Given the description of an element on the screen output the (x, y) to click on. 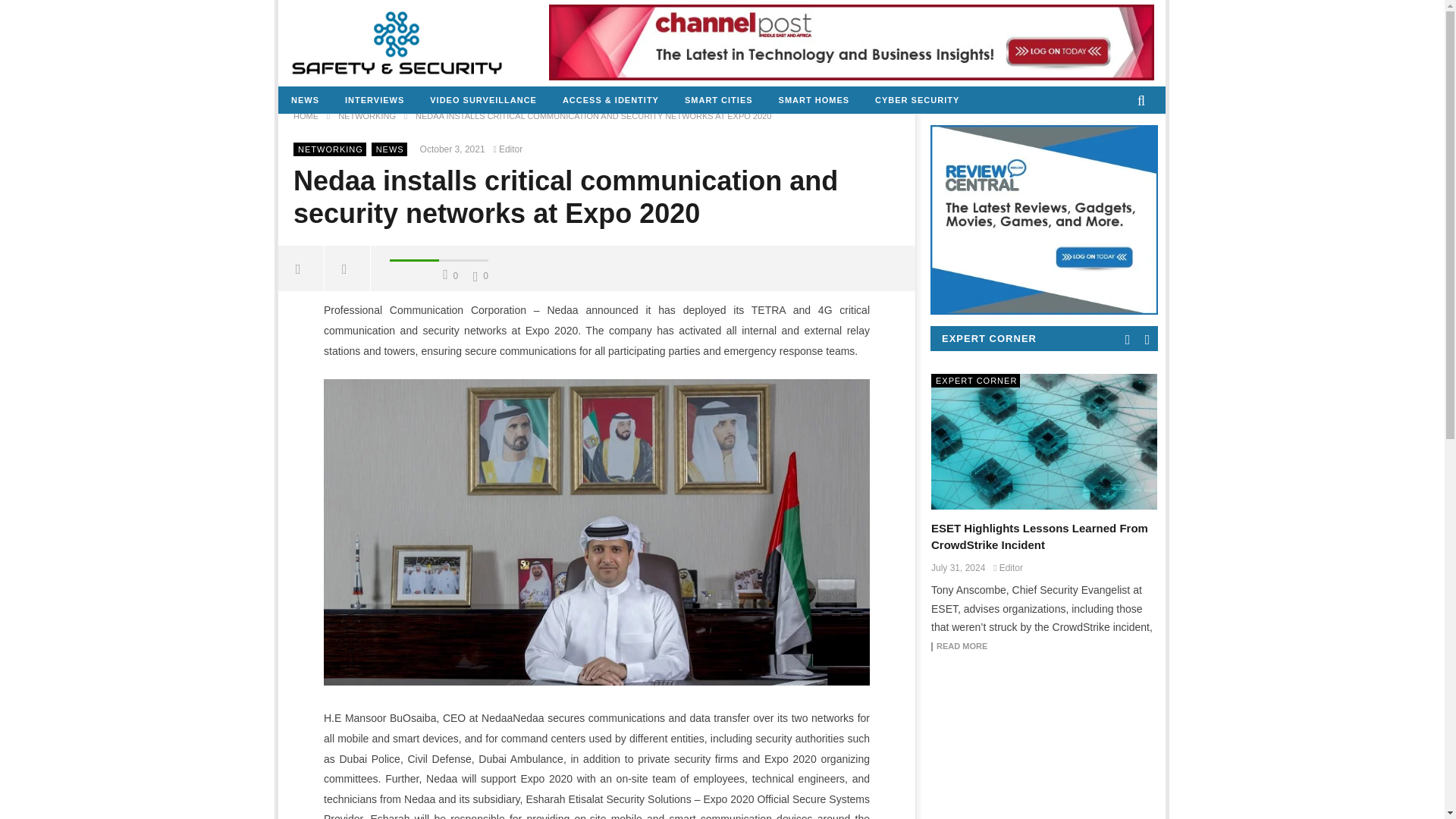
Editor (510, 148)
View all posts in Networking (330, 148)
NEWS (389, 148)
NEWS (304, 99)
INTERVIEWS (373, 99)
View all posts in News (389, 148)
NETWORKING (366, 115)
Posts by Editor (510, 148)
NETWORKING (330, 148)
SNS Mideast (396, 42)
